Given the description of an element on the screen output the (x, y) to click on. 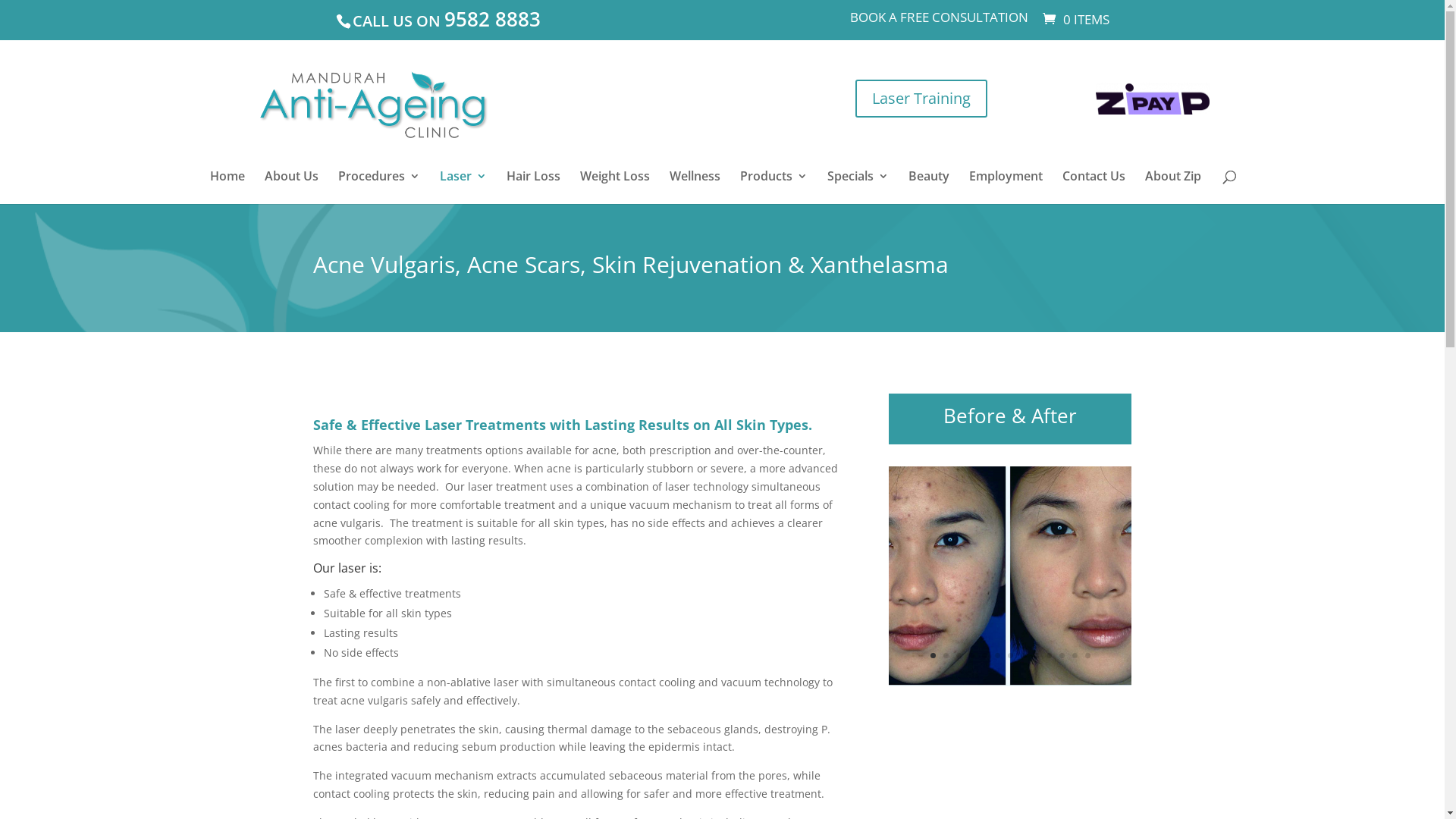
3 Element type: text (958, 655)
About Zip Element type: text (1173, 186)
Wellness Element type: text (694, 186)
About Us Element type: text (291, 186)
9 Element type: text (1035, 655)
7 Element type: text (1010, 655)
8 Element type: text (1023, 655)
0 ITEMS Element type: text (1073, 19)
11 Element type: text (1061, 655)
before-after-acne-treatment Element type: hover (1009, 681)
Contact Us Element type: text (1093, 186)
Home Element type: text (227, 186)
Beauty Element type: text (928, 186)
5 Element type: text (984, 655)
6 Element type: text (997, 655)
Laser Training Element type: text (921, 98)
2 Element type: text (945, 655)
1 Element type: text (932, 655)
9582 8883 Element type: text (492, 18)
4 Element type: text (971, 655)
Weight Loss Element type: text (614, 186)
Products Element type: text (773, 186)
Employment Element type: text (1005, 186)
Laser Element type: text (462, 186)
12 Element type: text (1074, 655)
BOOK A FREE CONSULTATION Element type: text (938, 21)
13 Element type: text (1087, 655)
Procedures Element type: text (379, 186)
Specials Element type: text (857, 186)
Hair Loss Element type: text (533, 186)
10 Element type: text (1048, 655)
